Given the description of an element on the screen output the (x, y) to click on. 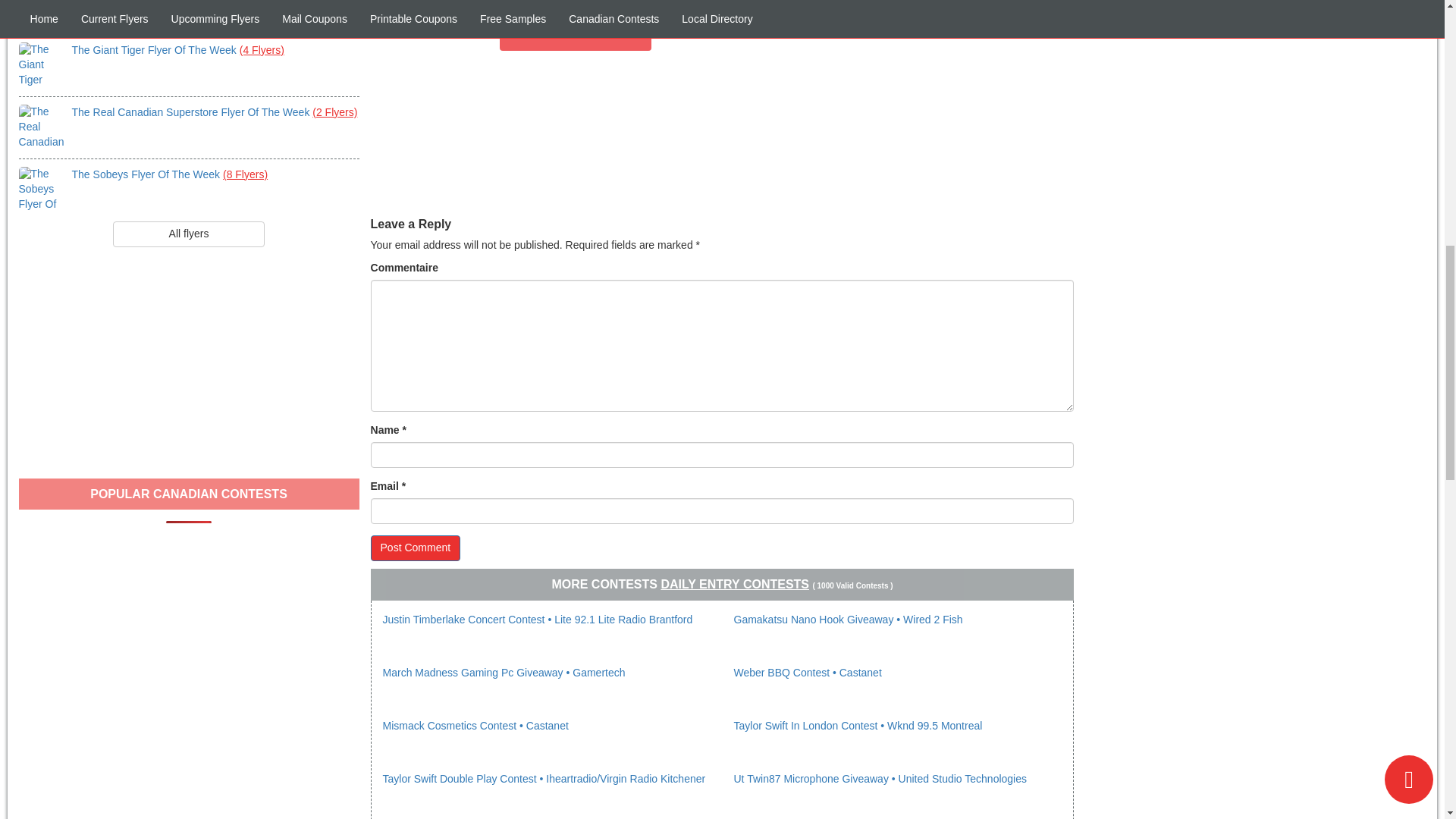
Get The Offer (574, 25)
Post Comment (416, 548)
Daily Entry Contests (735, 584)
All flyers (188, 234)
